Given the description of an element on the screen output the (x, y) to click on. 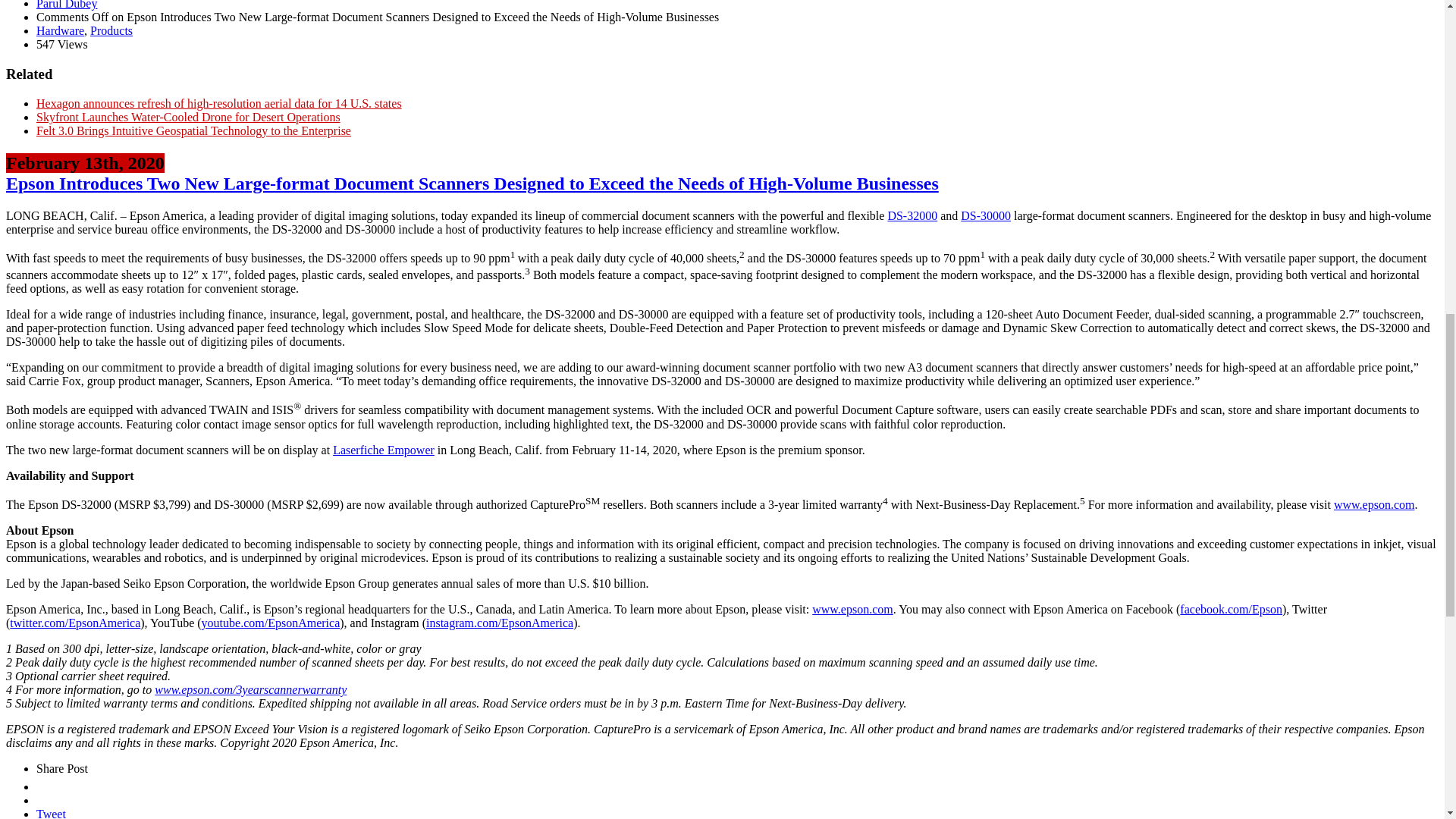
Skyfront Launches Water-Cooled Drone for Desert Operations (188, 116)
Posts by Parul Dubey (66, 4)
